Given the description of an element on the screen output the (x, y) to click on. 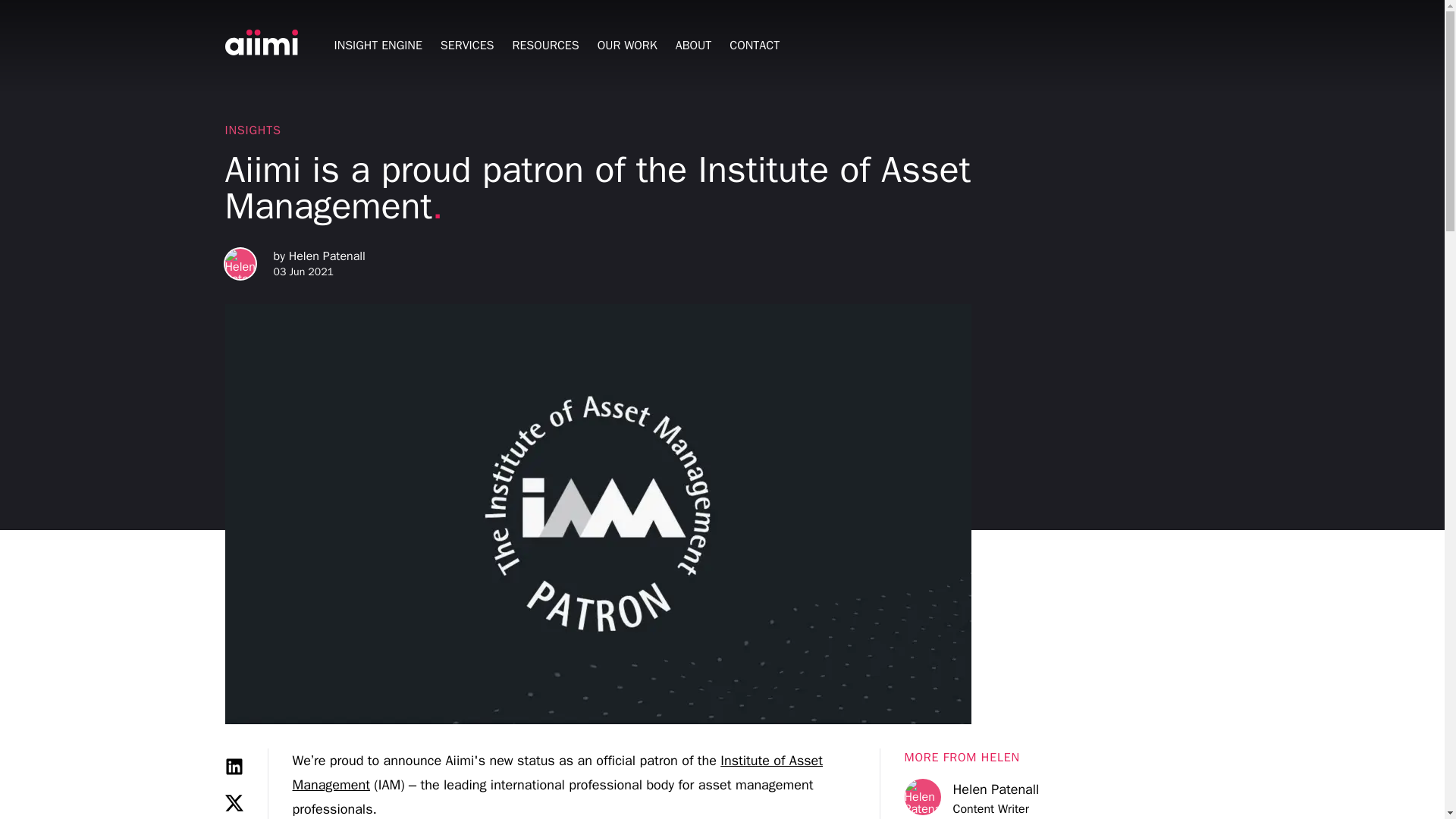
ABOUT (693, 45)
OUR WORK (627, 45)
INSIGHT ENGINE (377, 45)
SERVICES (466, 45)
CONTACT (754, 45)
